Given the description of an element on the screen output the (x, y) to click on. 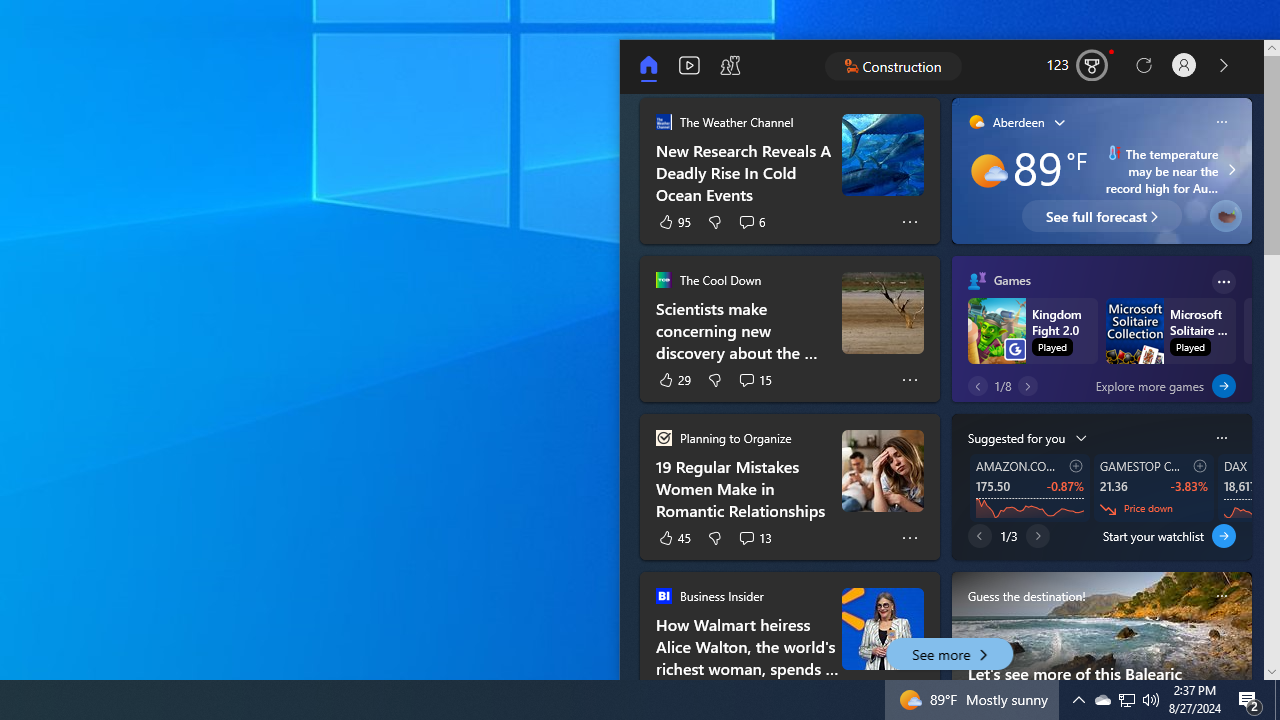
Action Center, 2 new notifications (1250, 699)
Construction (893, 65)
